Given the description of an element on the screen output the (x, y) to click on. 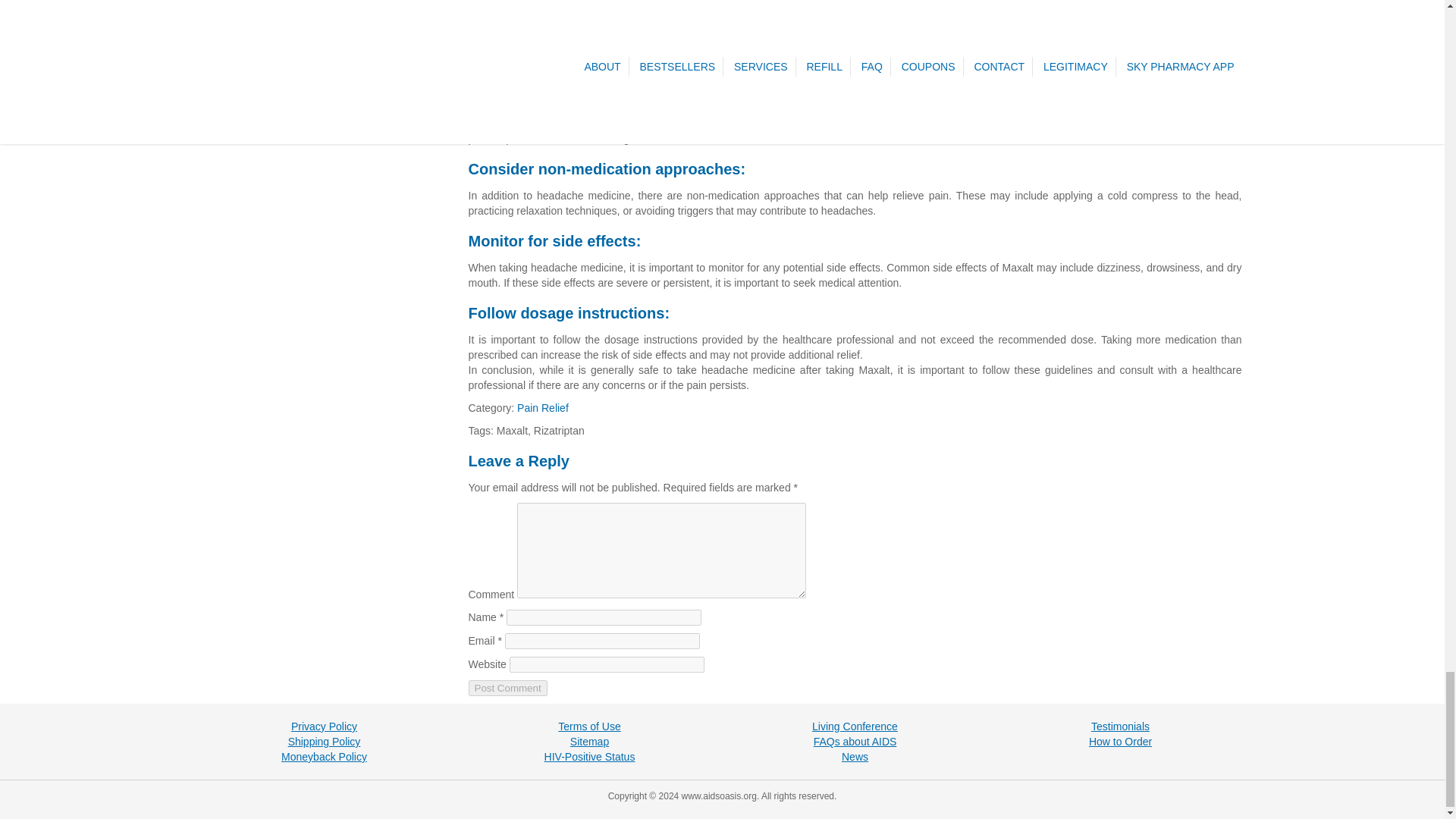
Post Comment (507, 688)
